Given the description of an element on the screen output the (x, y) to click on. 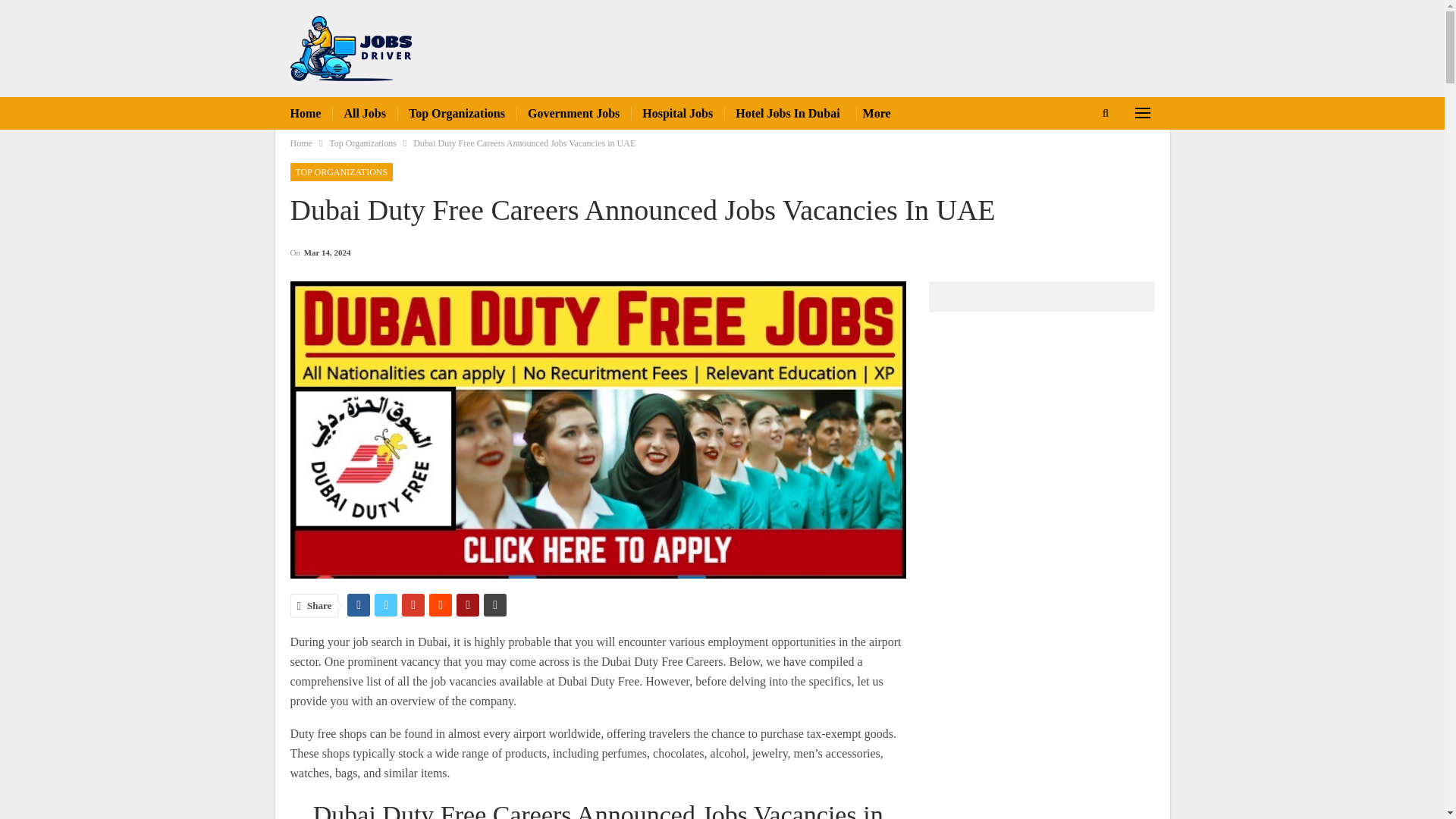
Hotel Jobs In Dubai (787, 113)
All Jobs (364, 113)
Government Jobs (573, 113)
Home (304, 113)
Top Organizations (362, 143)
Home (300, 143)
TOP ORGANIZATIONS (341, 171)
Top Organizations (457, 113)
Hospital Jobs (677, 113)
